Given the description of an element on the screen output the (x, y) to click on. 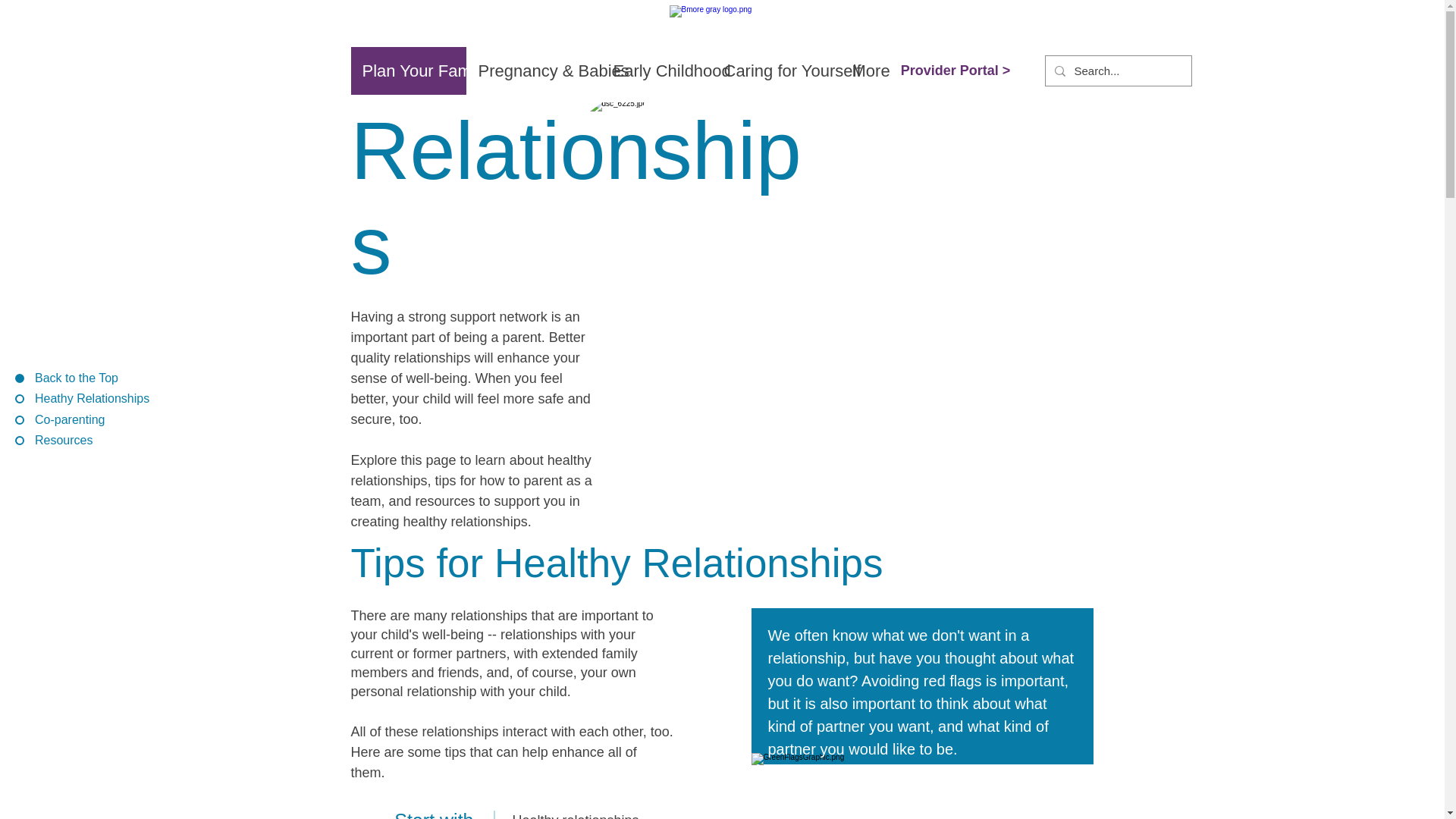
Resources (81, 440)
Back to the Top (81, 378)
Caring for Yourself (775, 70)
Heathy Relationships (81, 398)
Plan Your Family (407, 70)
Early Childhood (655, 70)
Co-parenting (81, 419)
